Given the description of an element on the screen output the (x, y) to click on. 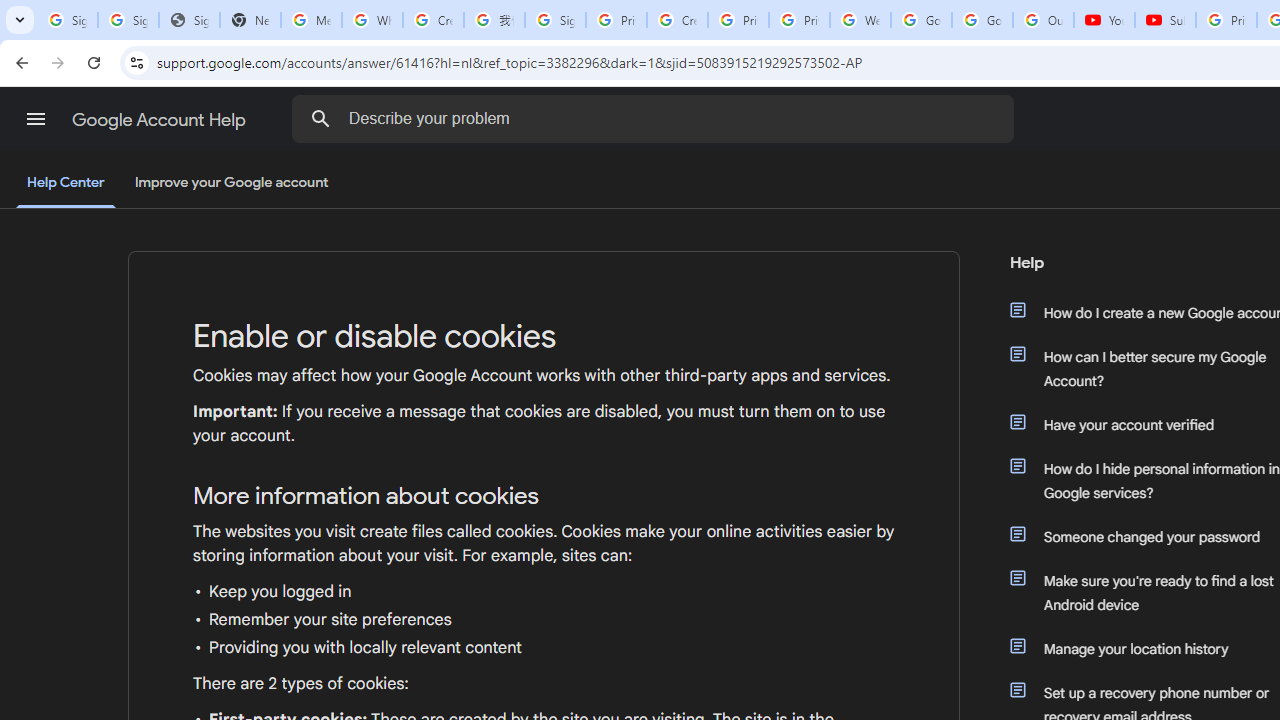
Sign in - Google Accounts (128, 20)
Improve your Google account (231, 183)
Who is my administrator? - Google Account Help (372, 20)
Describe your problem (655, 118)
Subscriptions - YouTube (1165, 20)
YouTube (1104, 20)
Google Account Help (160, 119)
